Given the description of an element on the screen output the (x, y) to click on. 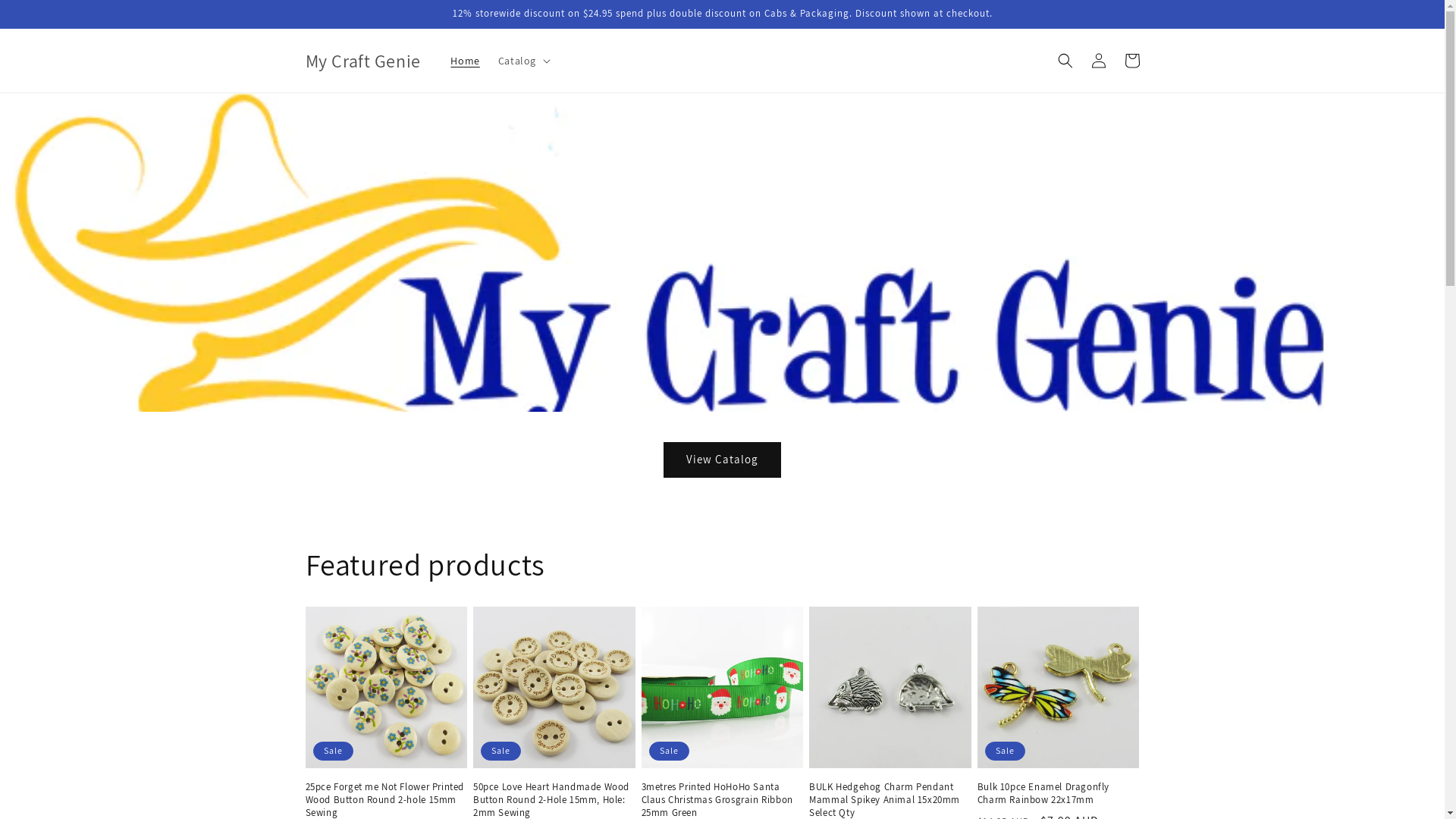
Bulk 10pce Enamel Dragonfly Charm Rainbow 22x17mm Element type: text (1058, 793)
My Craft Genie Element type: text (362, 60)
Home Element type: text (464, 60)
Log in Element type: text (1097, 60)
Cart Element type: text (1131, 60)
View Catalog Element type: text (722, 459)
